Given the description of an element on the screen output the (x, y) to click on. 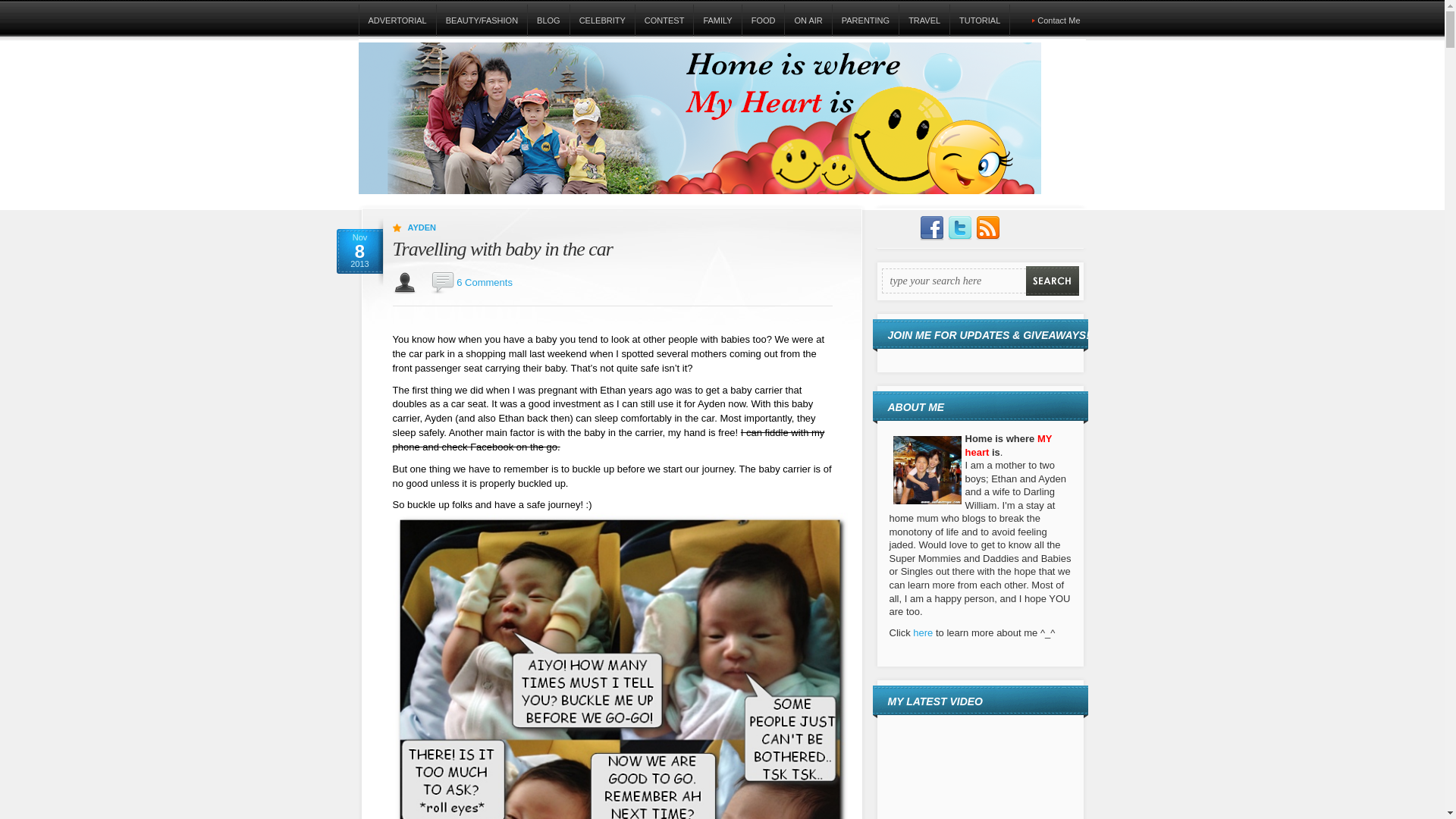
type your search here (952, 280)
FAMILY (717, 20)
PARENTING (864, 20)
BLOG (548, 20)
CONTEST (664, 20)
TUTORIAL (979, 20)
TRAVEL (923, 20)
AYDEN (421, 226)
FOOD (762, 20)
Contact Me (1058, 20)
ADVERTORIAL (396, 20)
ON AIR (807, 20)
CELEBRITY (601, 20)
6 Comments (484, 282)
